Given the description of an element on the screen output the (x, y) to click on. 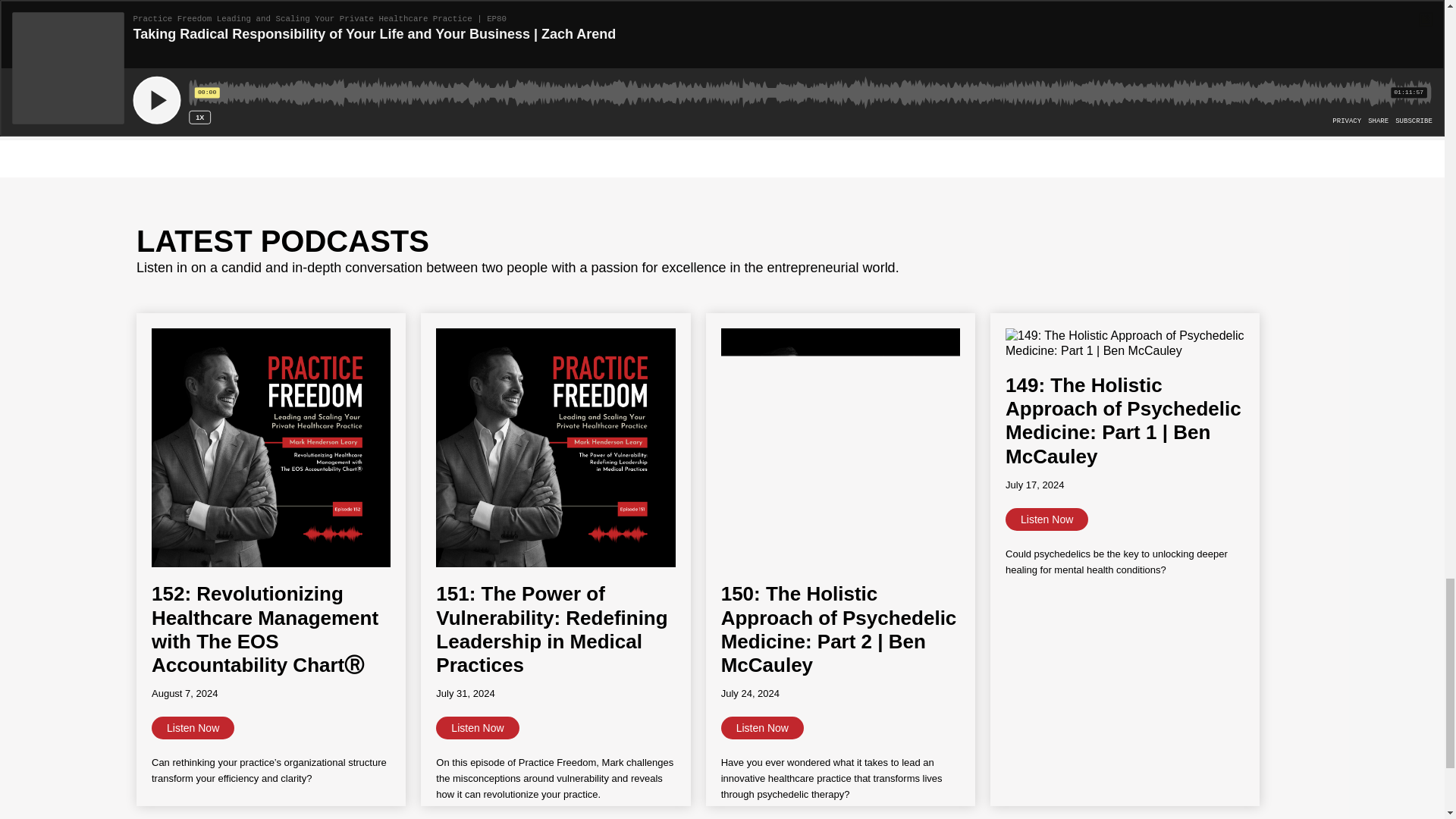
Listen Now (192, 727)
Listen Now (476, 727)
Listen Now (1046, 518)
Listen Now (761, 727)
